Given the description of an element on the screen output the (x, y) to click on. 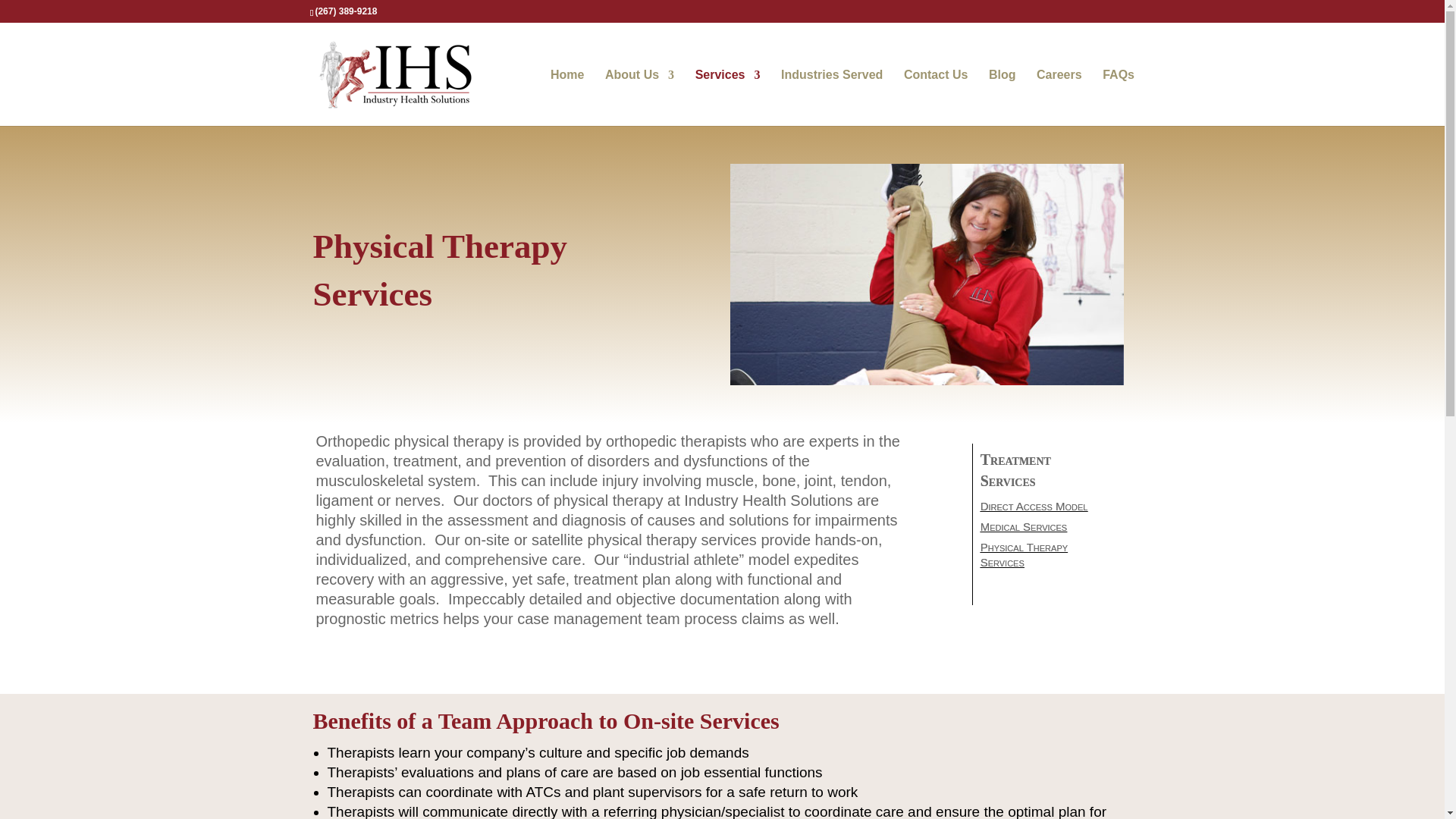
Industries Served (831, 97)
FAQs (1118, 97)
About Us (639, 97)
Home (566, 97)
Contact Us (936, 97)
Careers (1058, 97)
Services (727, 97)
Blog (1002, 97)
